Given the description of an element on the screen output the (x, y) to click on. 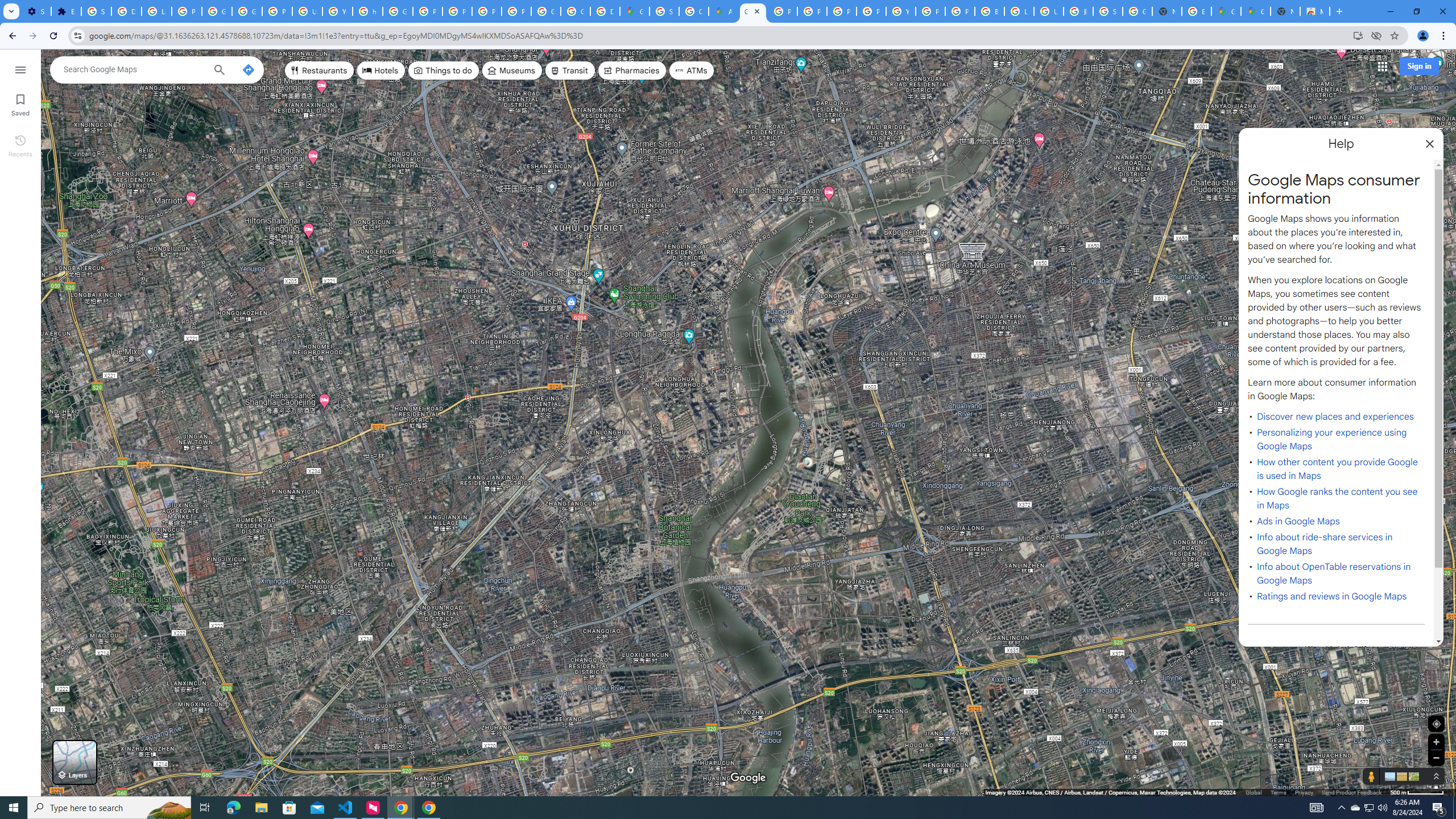
Things to do (443, 70)
Restaurants (319, 70)
Install Google Maps (1358, 35)
Info about ride-share services in Google Maps (1324, 543)
Museums (511, 70)
Delete photos & videos - Computer - Google Photos Help (126, 11)
How Google ranks the content you see in Maps (1337, 498)
500 m (1417, 792)
Layers (74, 762)
